Given the description of an element on the screen output the (x, y) to click on. 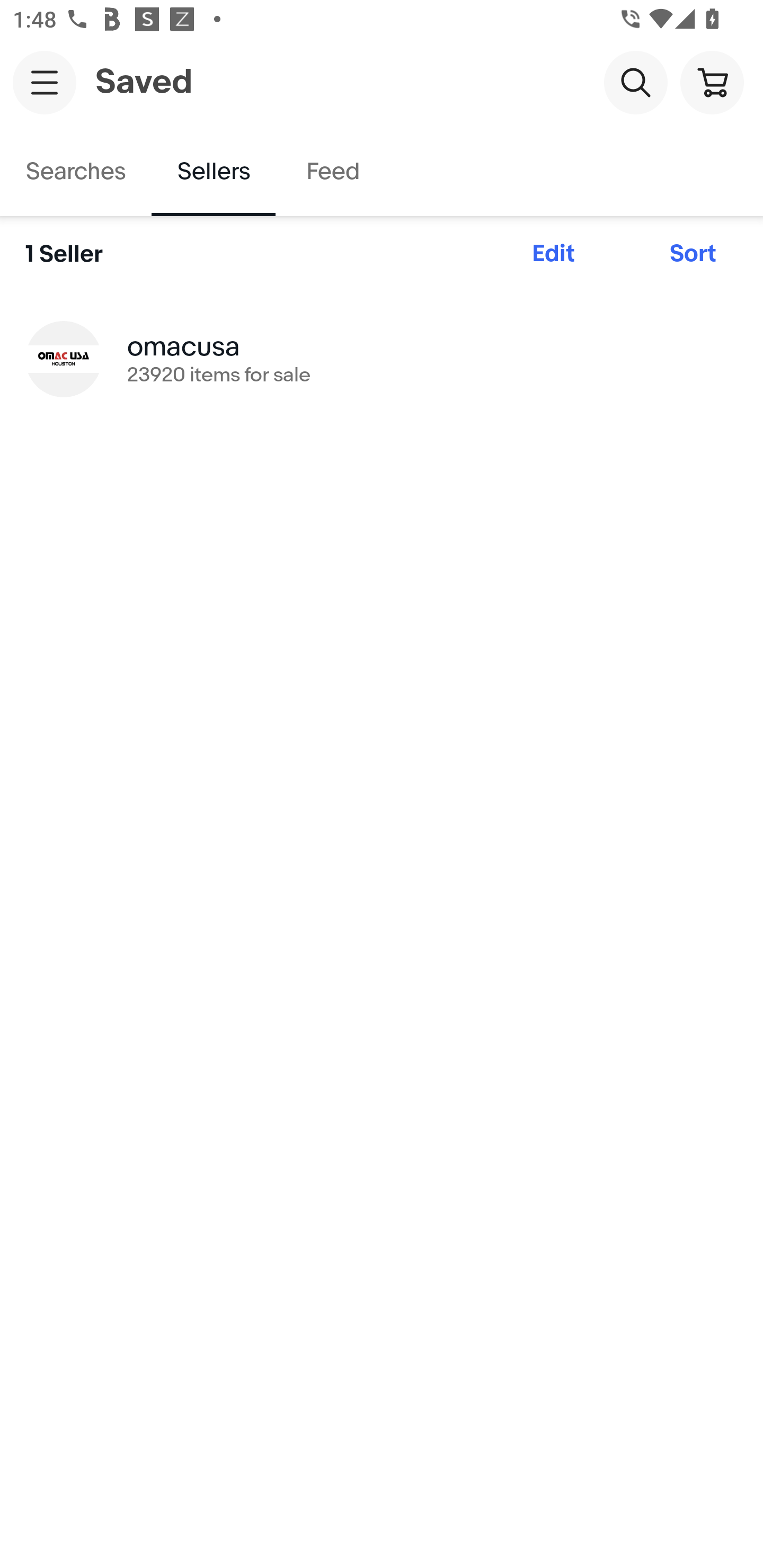
Main navigation, open (44, 82)
Search (635, 81)
Cart button shopping cart (711, 81)
Searches (75, 171)
Feed (332, 171)
Edit (552, 253)
Sort (693, 253)
omacusa 23920 items for sale (381, 357)
